Given the description of an element on the screen output the (x, y) to click on. 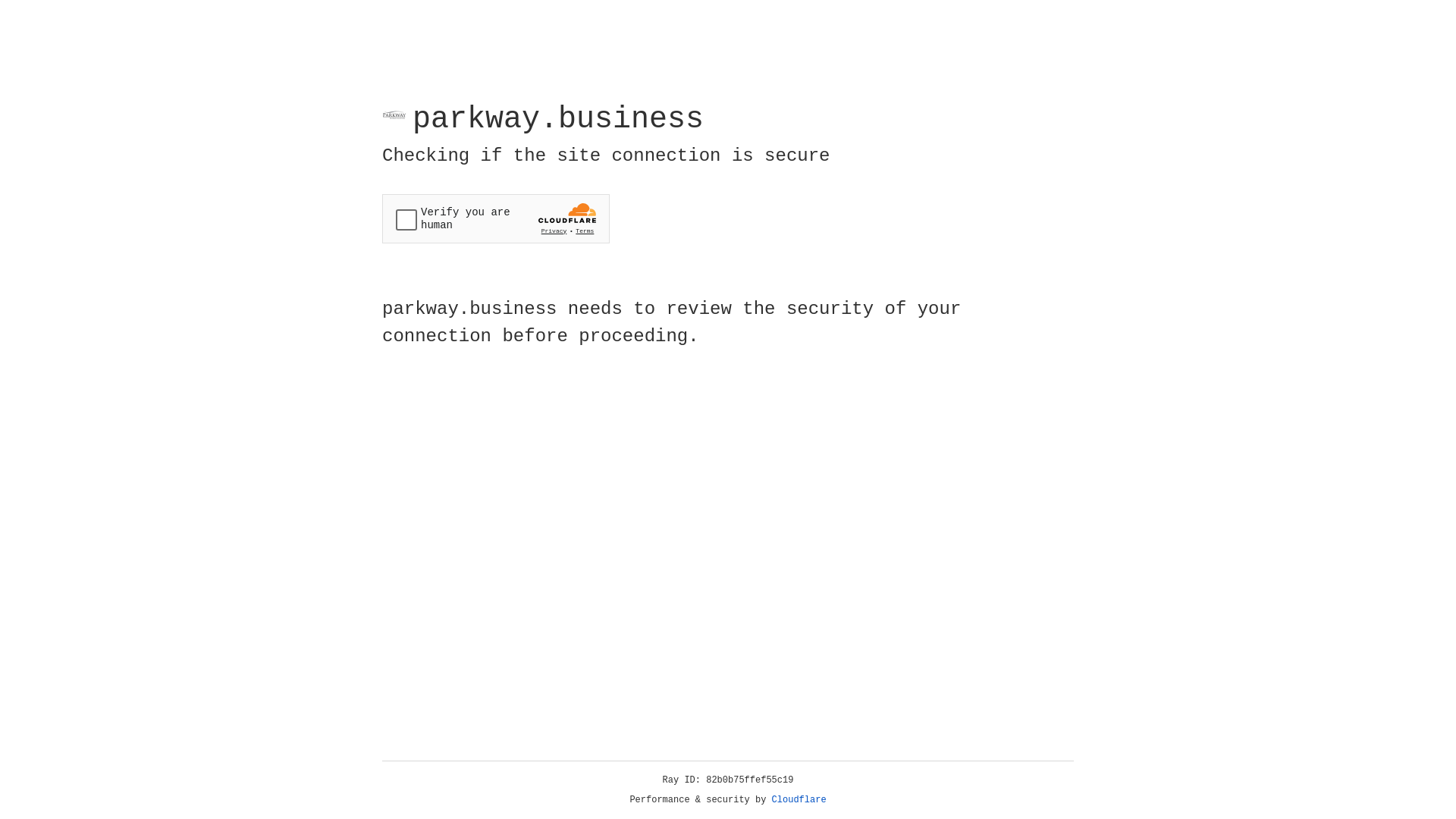
Widget containing a Cloudflare security challenge Element type: hover (495, 218)
Cloudflare Element type: text (798, 799)
